Given the description of an element on the screen output the (x, y) to click on. 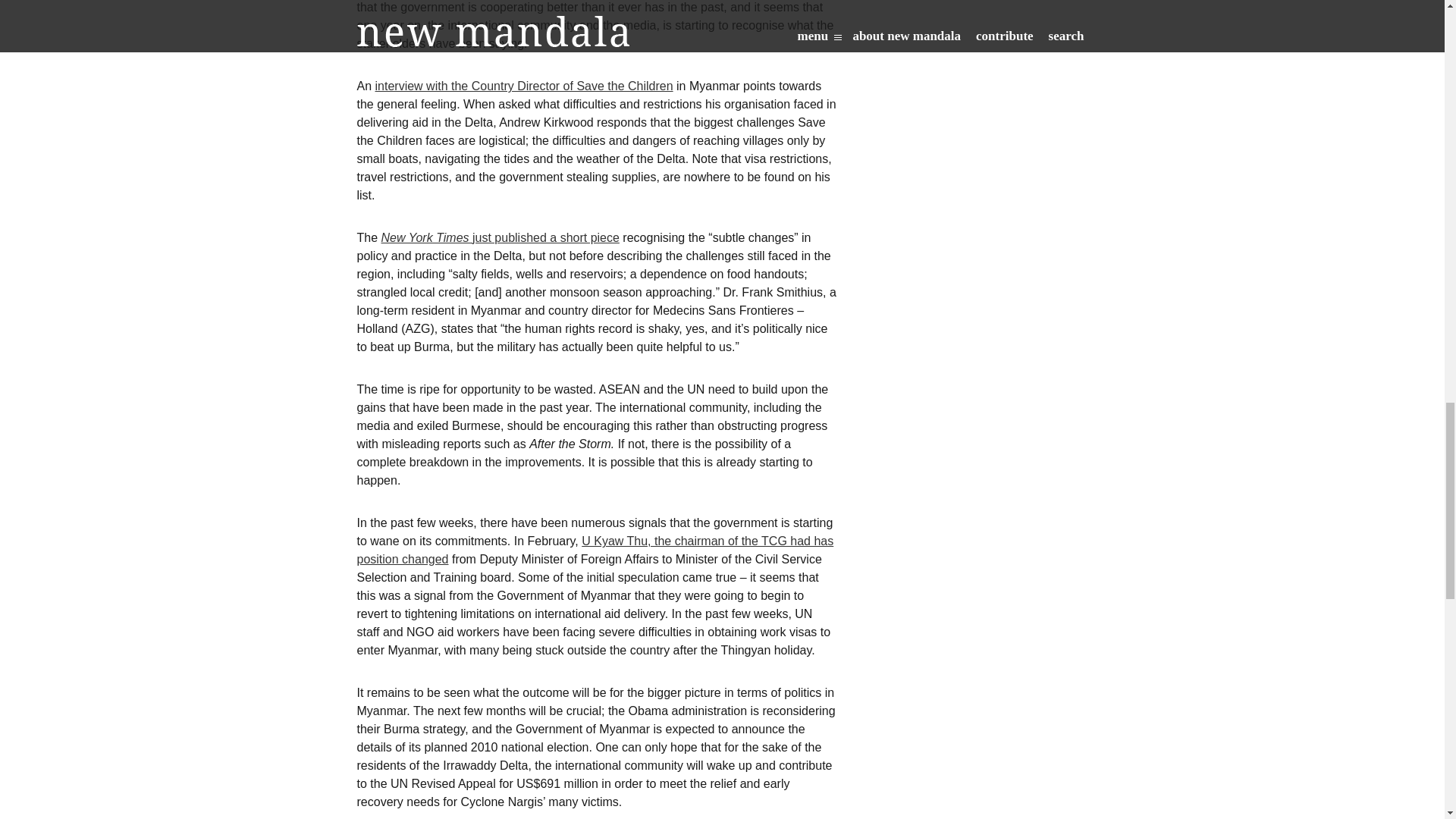
interview with the Country Director of Save the Children (523, 85)
U Kyaw Thu, the chairman of the TCG had has position changed (594, 549)
New York Times just published a short piece (500, 237)
